Given the description of an element on the screen output the (x, y) to click on. 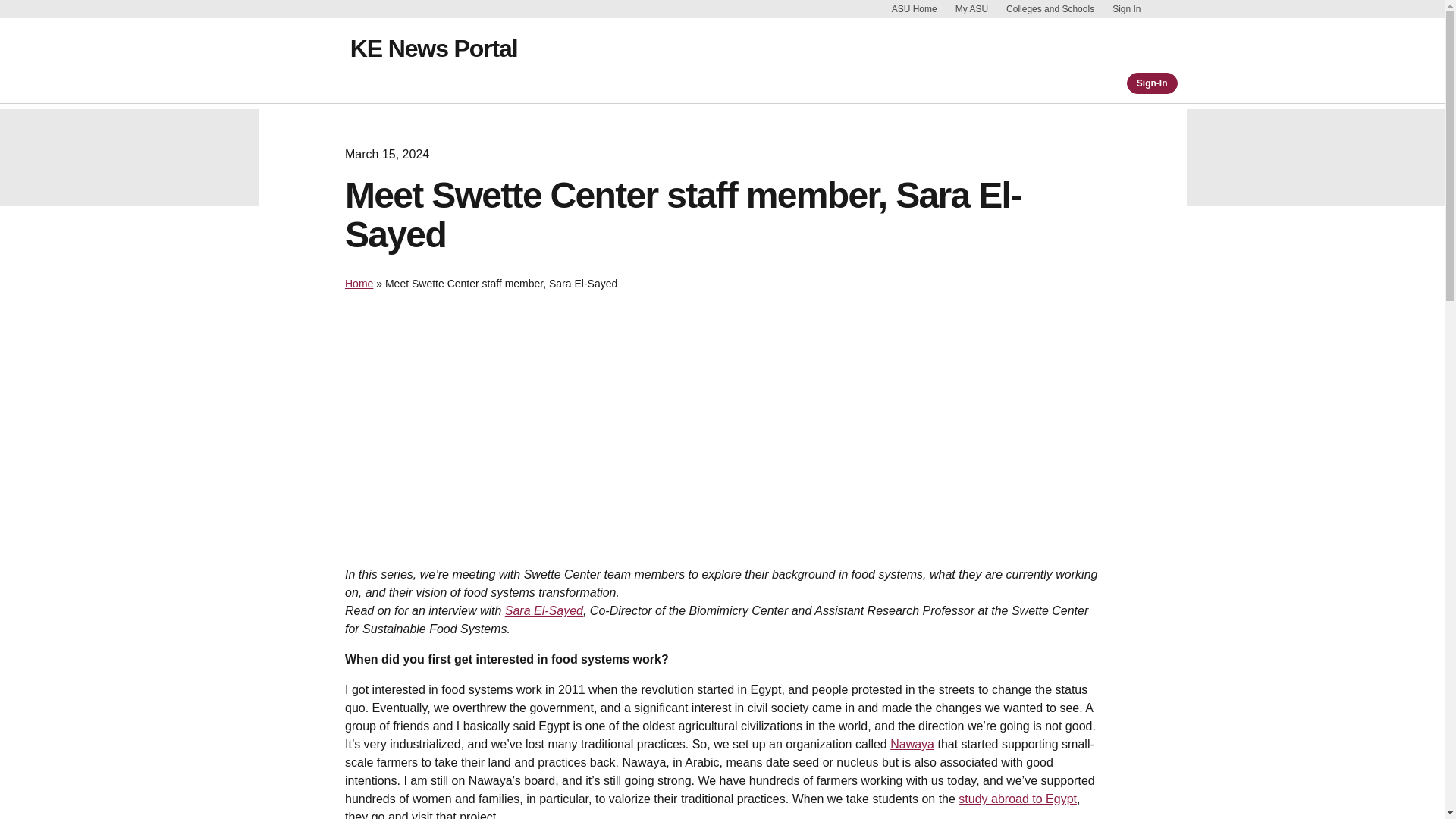
Skip to Content (1164, 8)
Nawaya (911, 744)
ASU home (307, 60)
Home (358, 283)
Sara El-Sayed (544, 610)
study abroad to Egypt (1017, 798)
Sign In (1126, 8)
ASU Home (914, 8)
Colleges and Schools (1050, 8)
Sign-In (1151, 83)
